Given the description of an element on the screen output the (x, y) to click on. 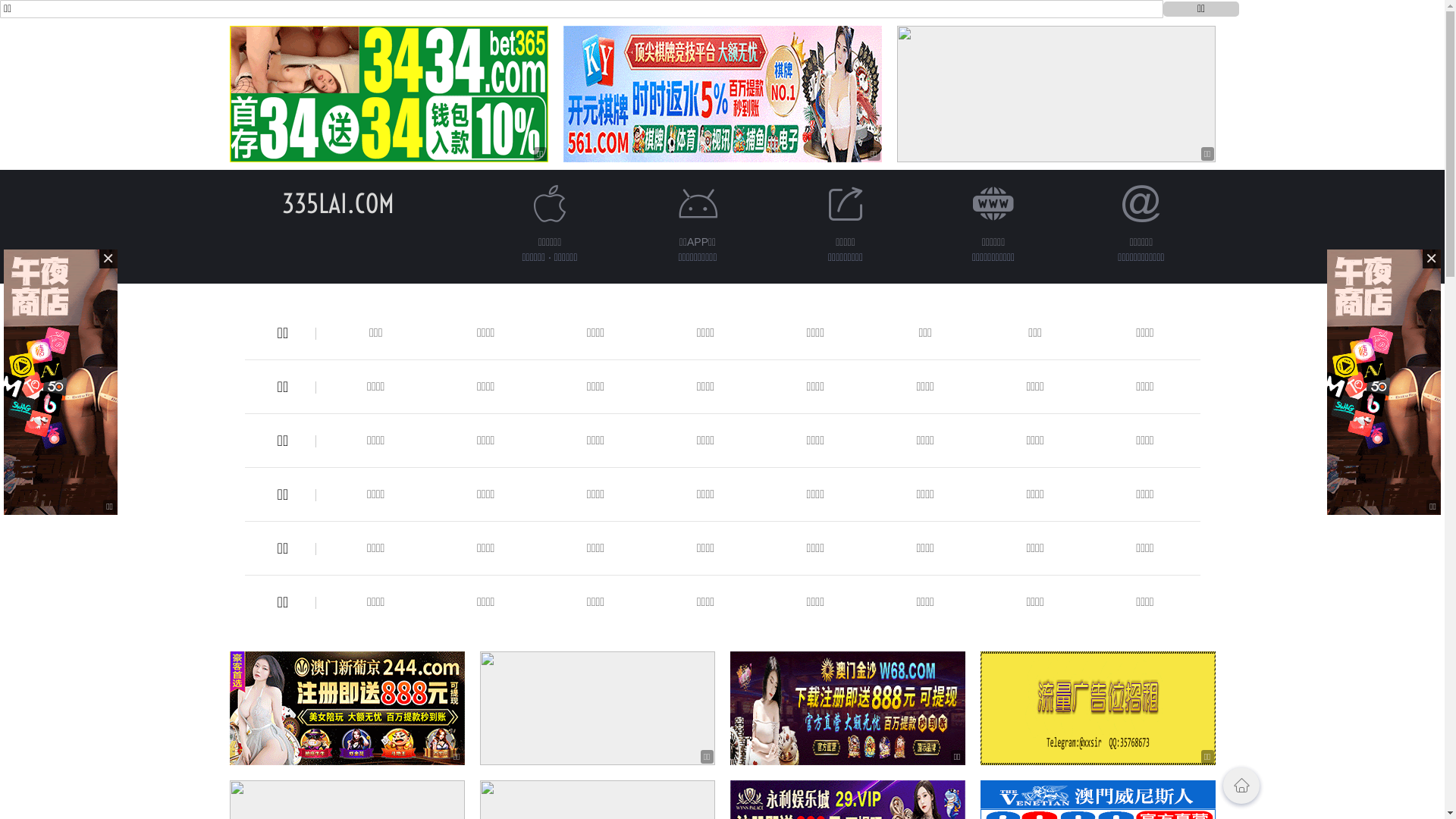
335LAI.COM Element type: text (338, 203)
